Given the description of an element on the screen output the (x, y) to click on. 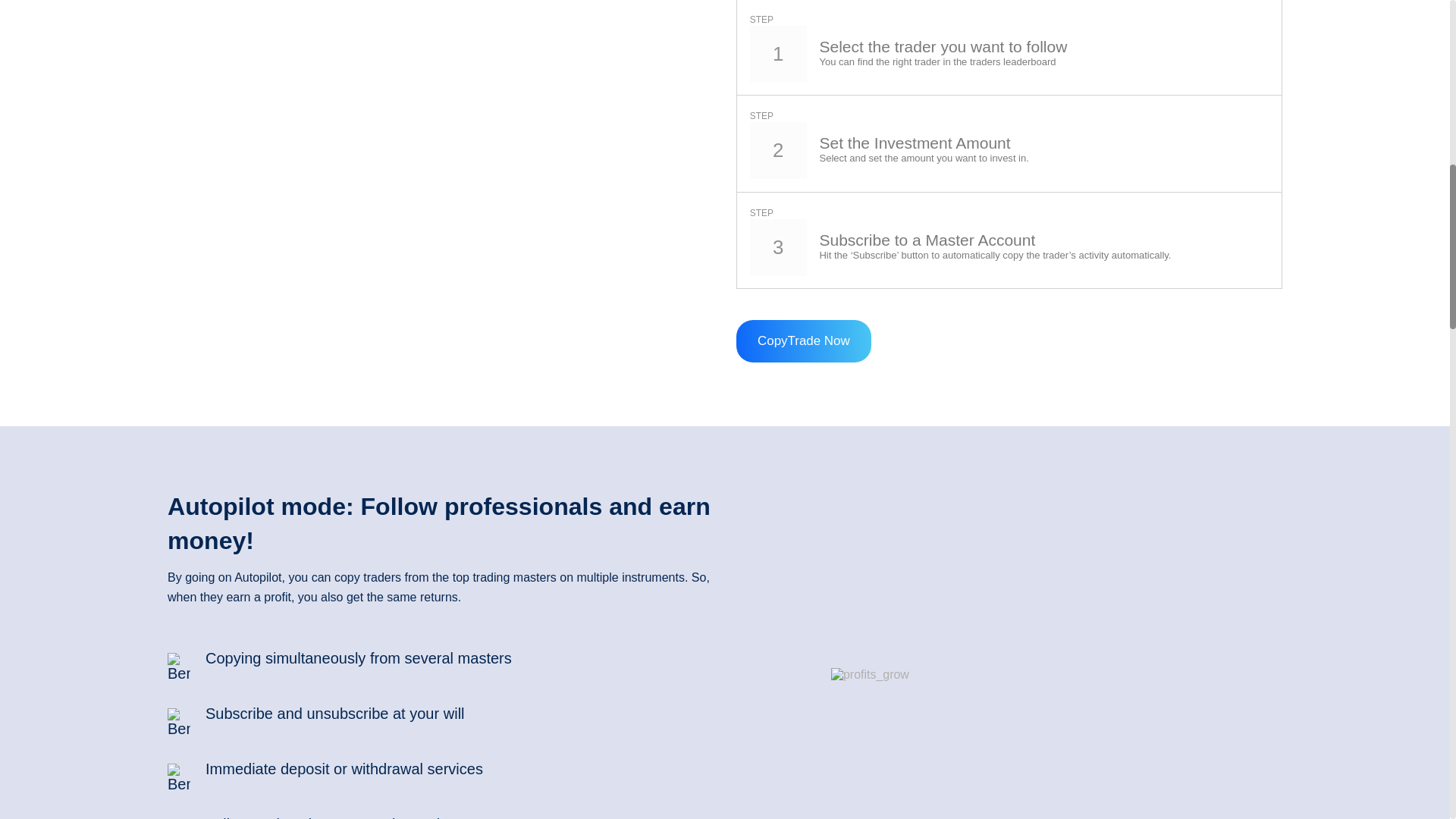
CopyTrade Now (803, 340)
